Given the description of an element on the screen output the (x, y) to click on. 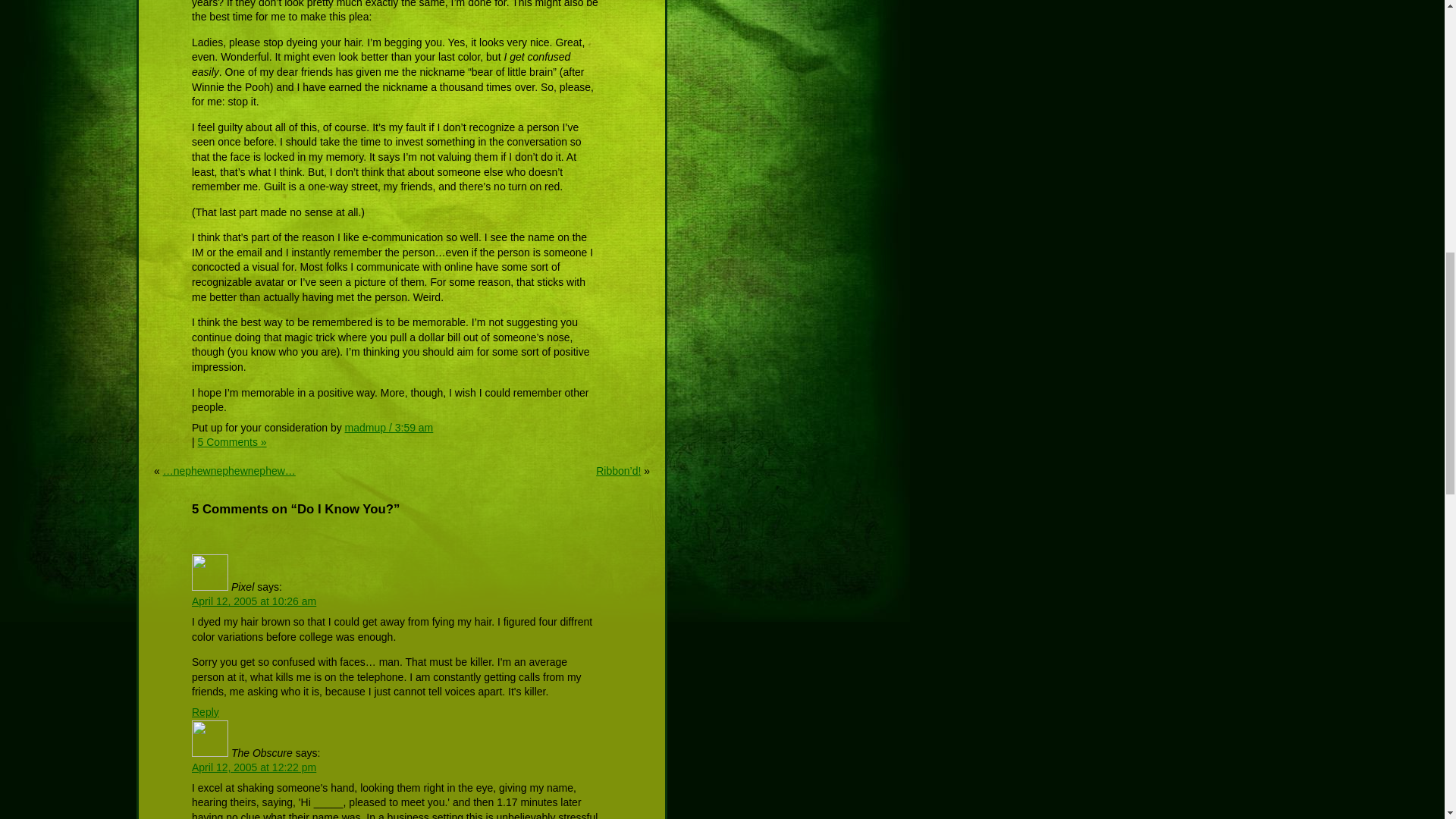
April 12, 2005 at 12:22 pm (253, 767)
April 12, 2005 at 10:26 am (253, 601)
Reply (205, 711)
